Given the description of an element on the screen output the (x, y) to click on. 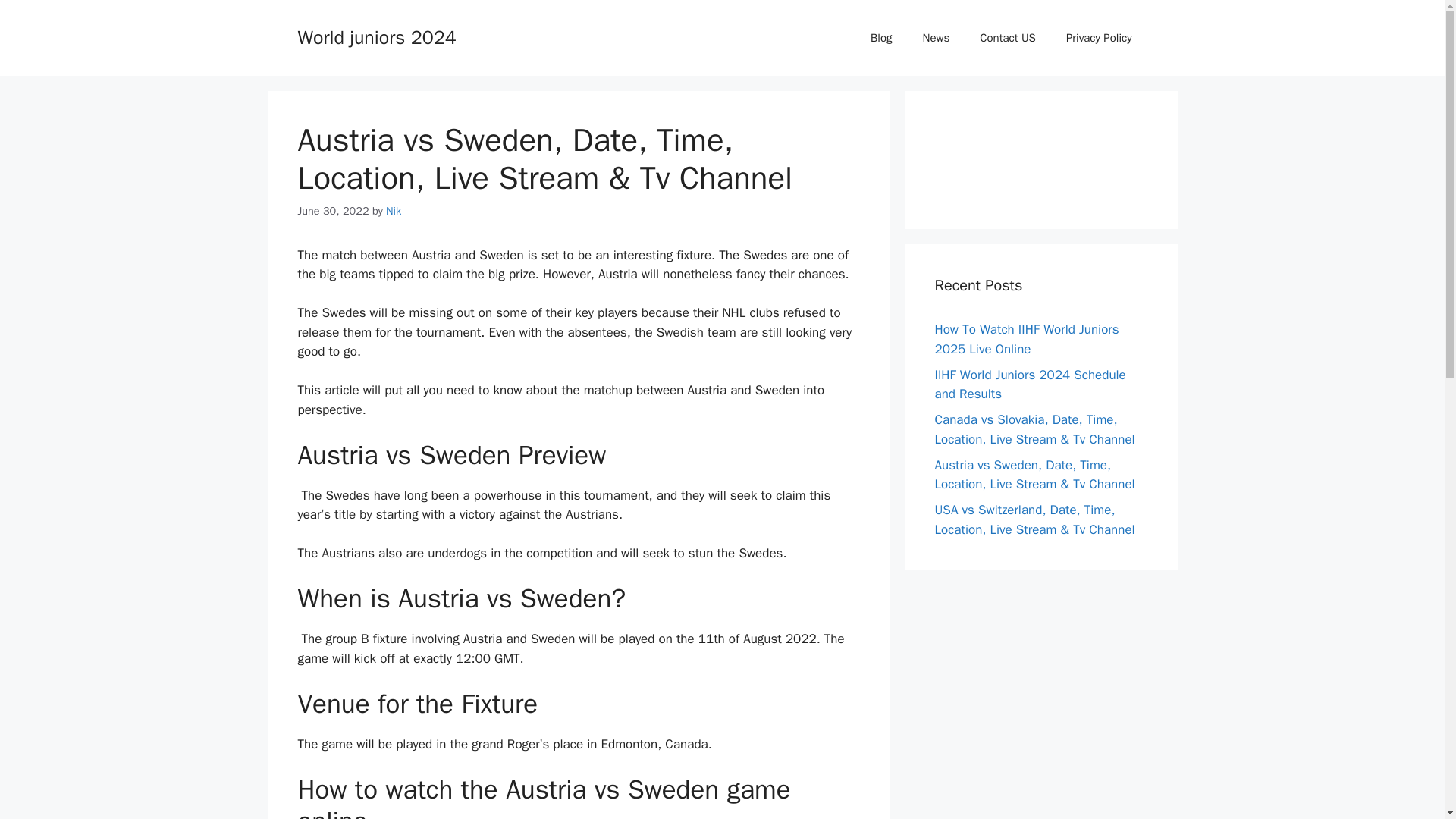
How To Watch IIHF World Juniors 2025 Live Online (1026, 339)
IIHF World Juniors 2024 Schedule and Results (1029, 384)
View all posts by Nik (393, 210)
Contact US (1007, 37)
World juniors 2024 (376, 37)
Blog (881, 37)
Privacy Policy (1099, 37)
Nik (393, 210)
News (936, 37)
